Given the description of an element on the screen output the (x, y) to click on. 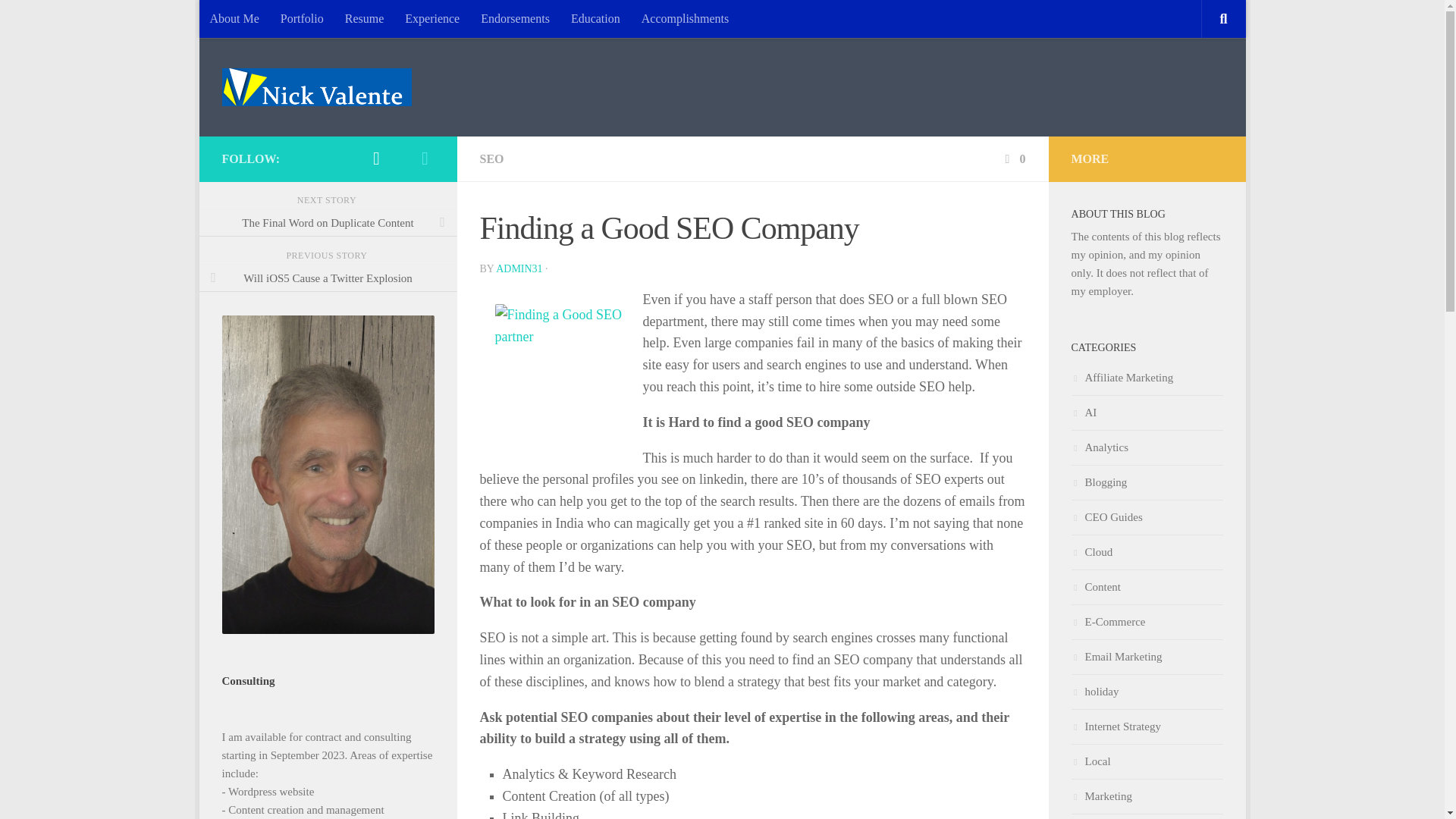
Twitter (375, 158)
Skip to content (258, 20)
Portfolio (301, 18)
0 (1013, 158)
Education (595, 18)
Experience (432, 18)
Endorsements (515, 18)
Posts by Admin31 (518, 268)
SEO (491, 158)
About Me (233, 18)
